Given the description of an element on the screen output the (x, y) to click on. 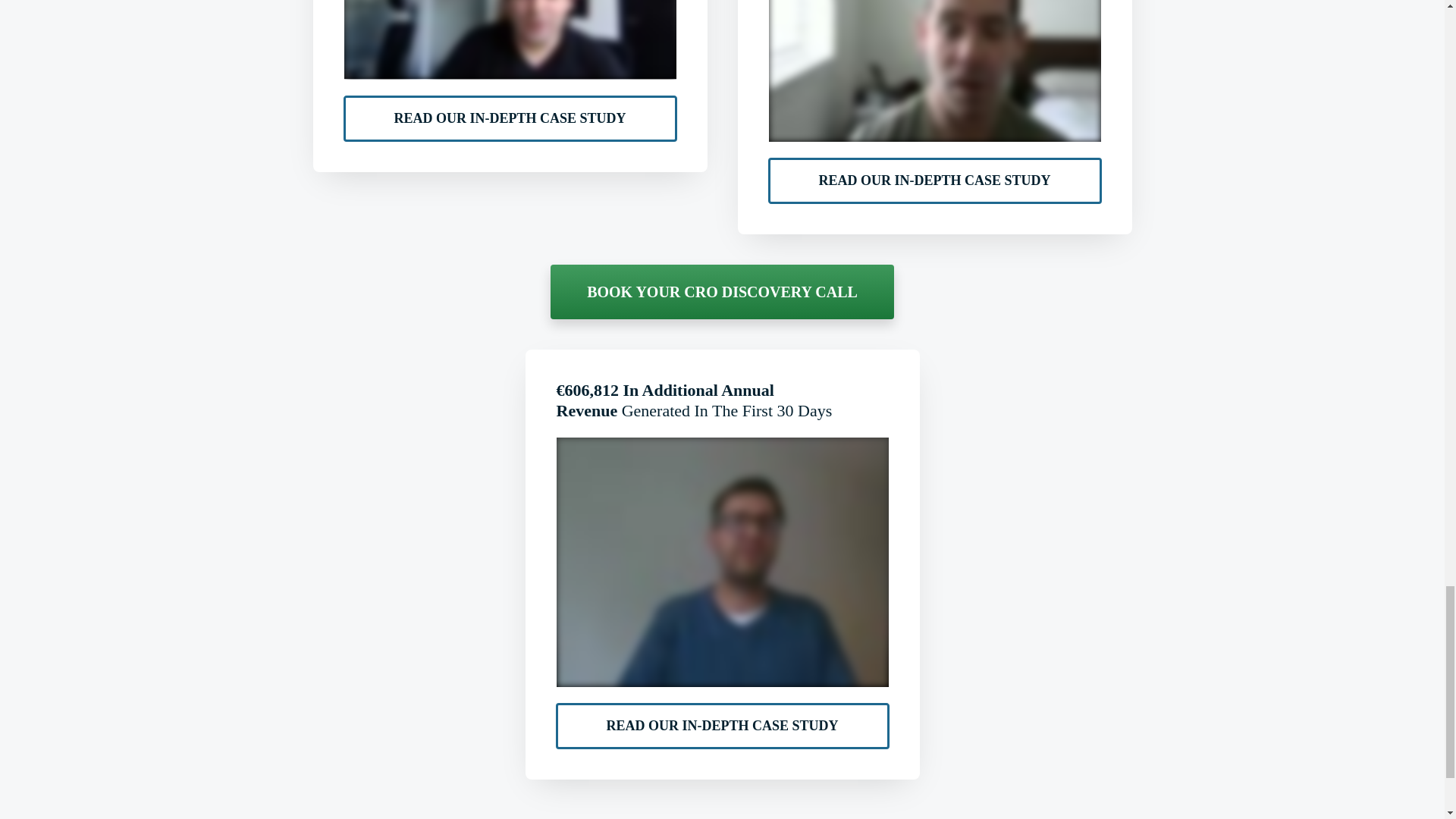
READ OUR IN-DEPTH CASE STUDY (509, 118)
